Given the description of an element on the screen output the (x, y) to click on. 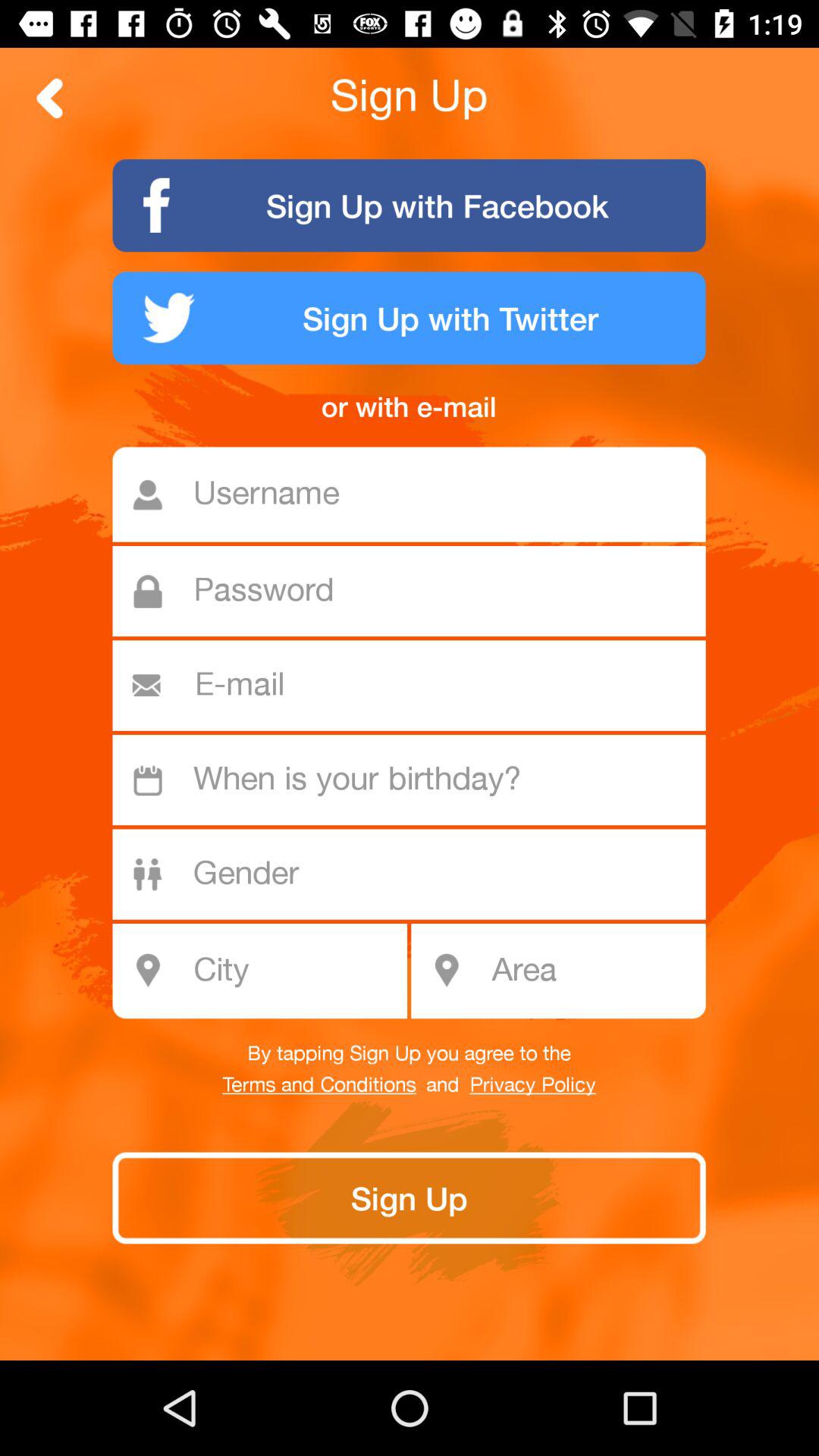
add your date of birth (417, 779)
